Given the description of an element on the screen output the (x, y) to click on. 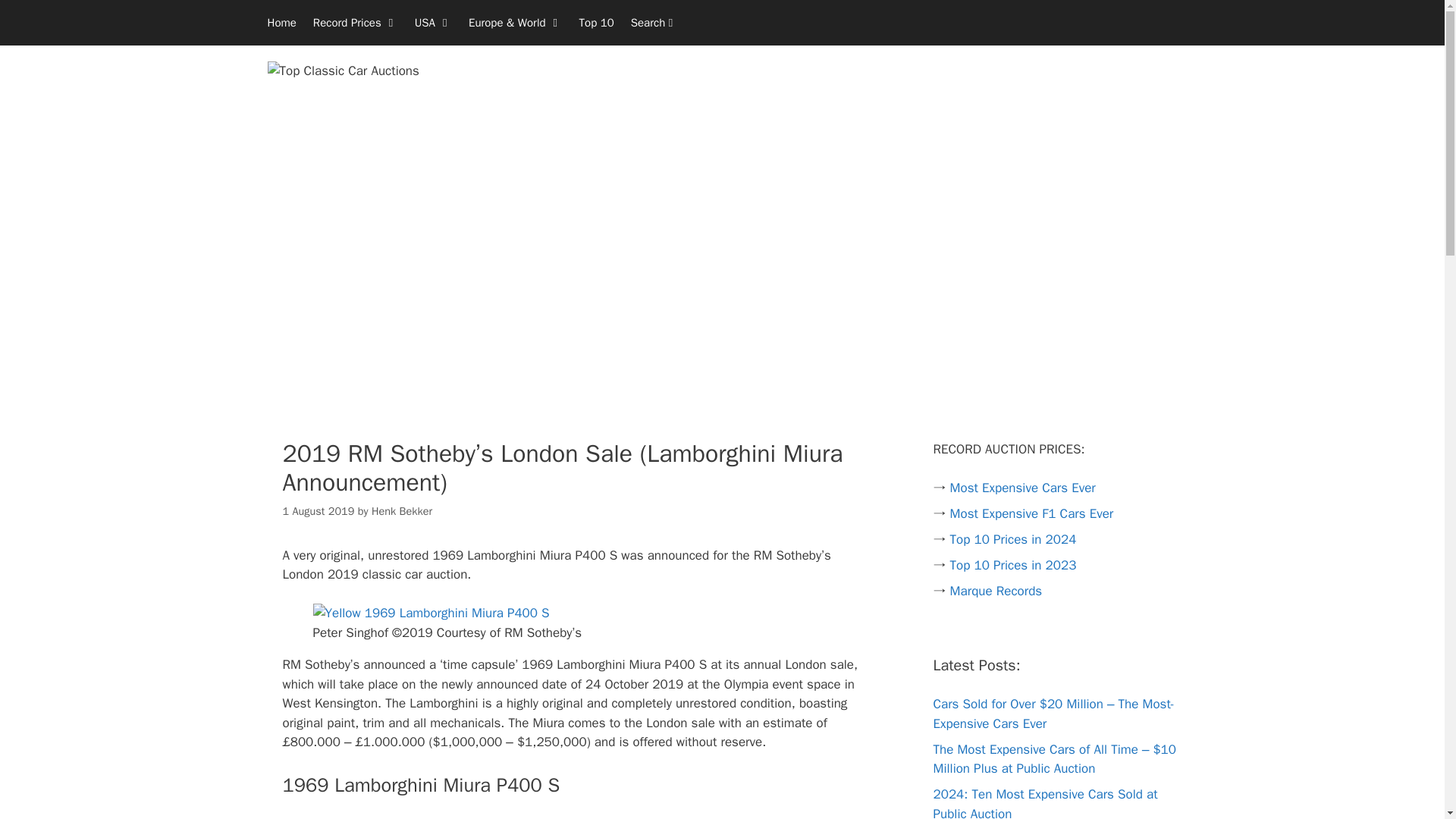
Top Classic Car Auctions (342, 71)
View all posts by Henk Bekker (401, 510)
Record Prices (355, 22)
Top Classic Car Auctions (342, 69)
USA (433, 22)
Home (281, 22)
